Given the description of an element on the screen output the (x, y) to click on. 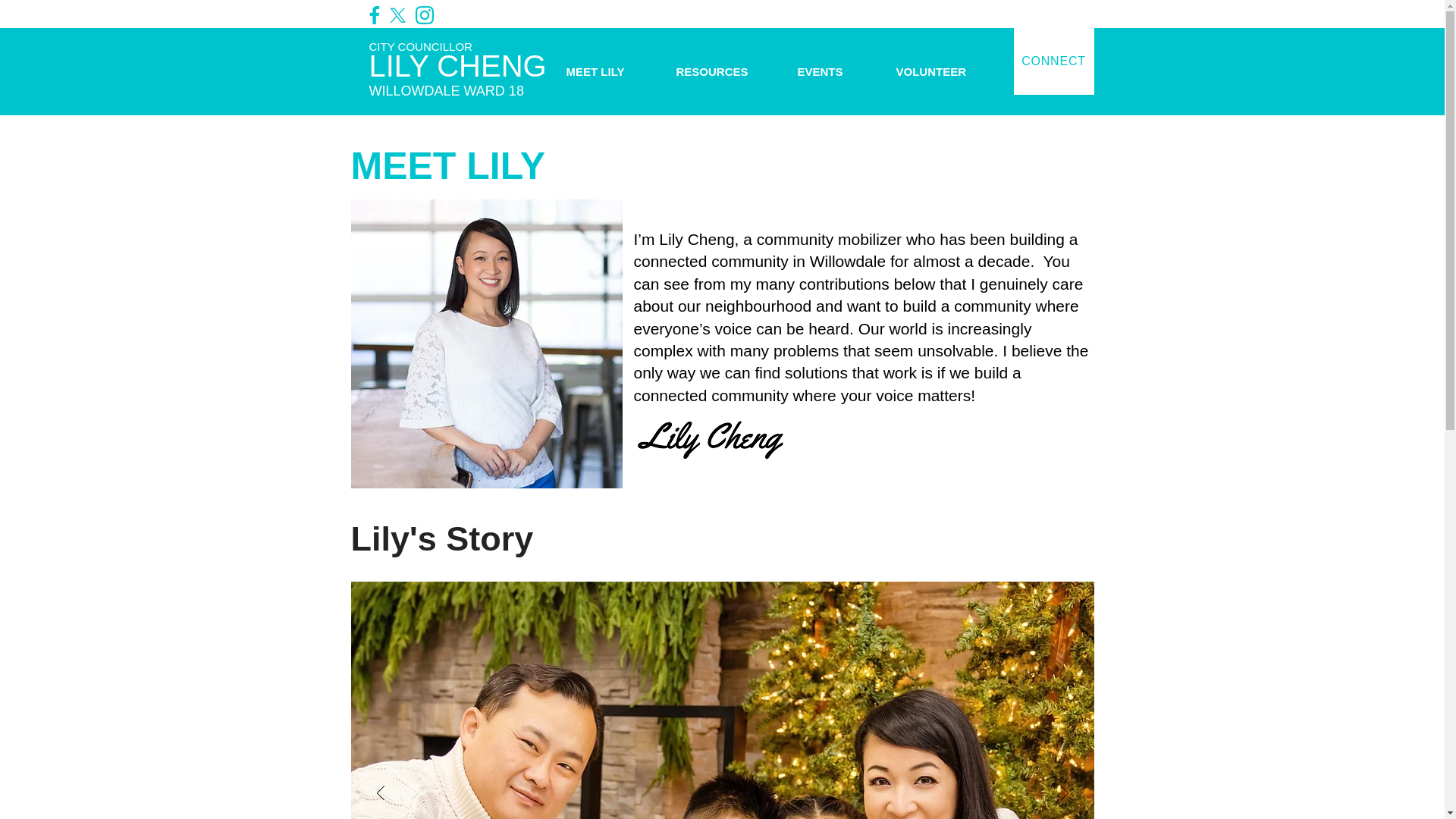
MEET LILY (610, 71)
CONNECT (457, 63)
RESOURCES (1053, 61)
EVENTS (726, 71)
VOLUNTEER (836, 71)
